Given the description of an element on the screen output the (x, y) to click on. 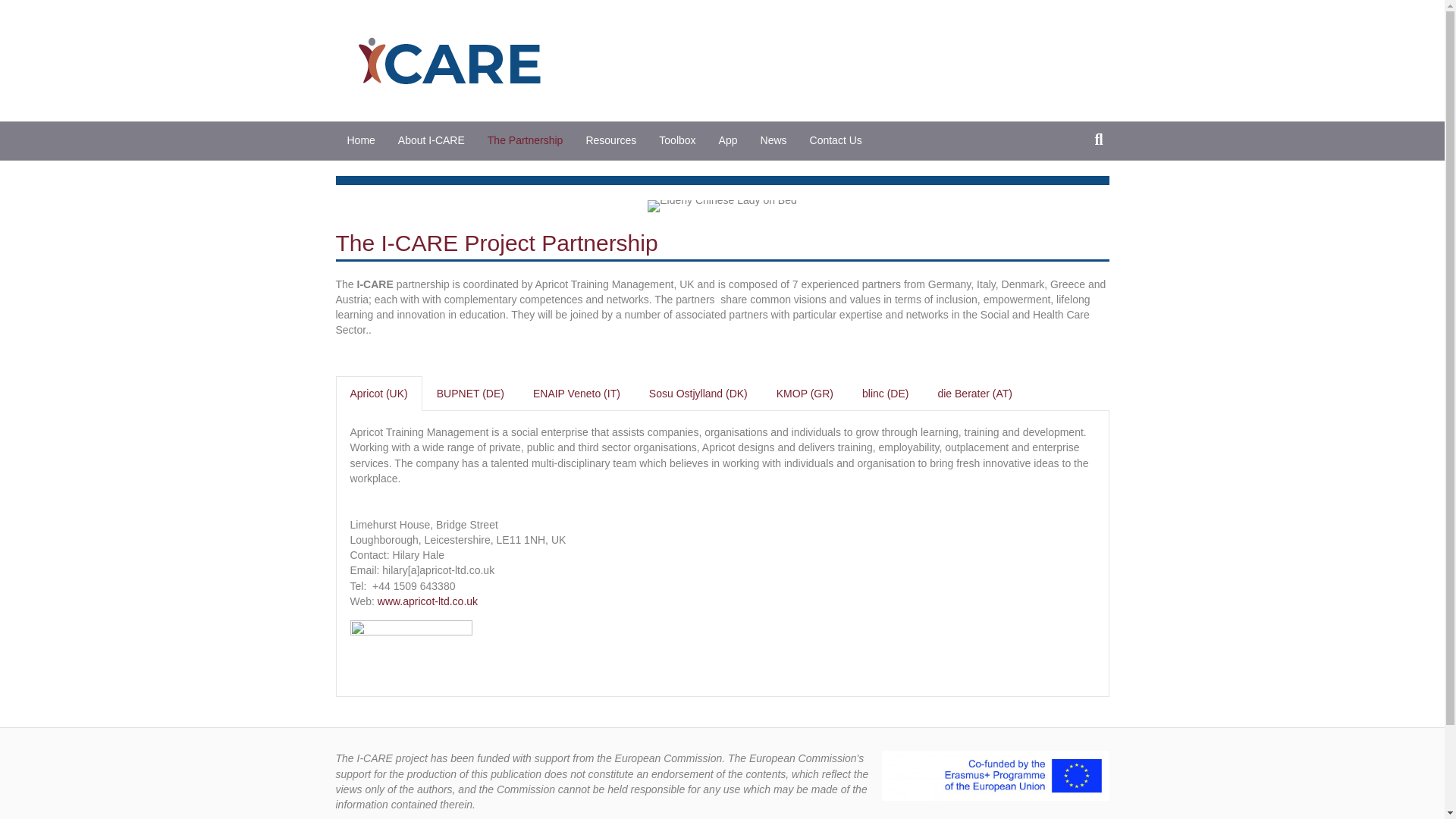
Toolbox (676, 140)
Home (359, 140)
The Partnership (525, 140)
Elderly-Chinese-Lady-on-Bed (721, 205)
About I-CARE (431, 140)
Resources (610, 140)
